Given the description of an element on the screen output the (x, y) to click on. 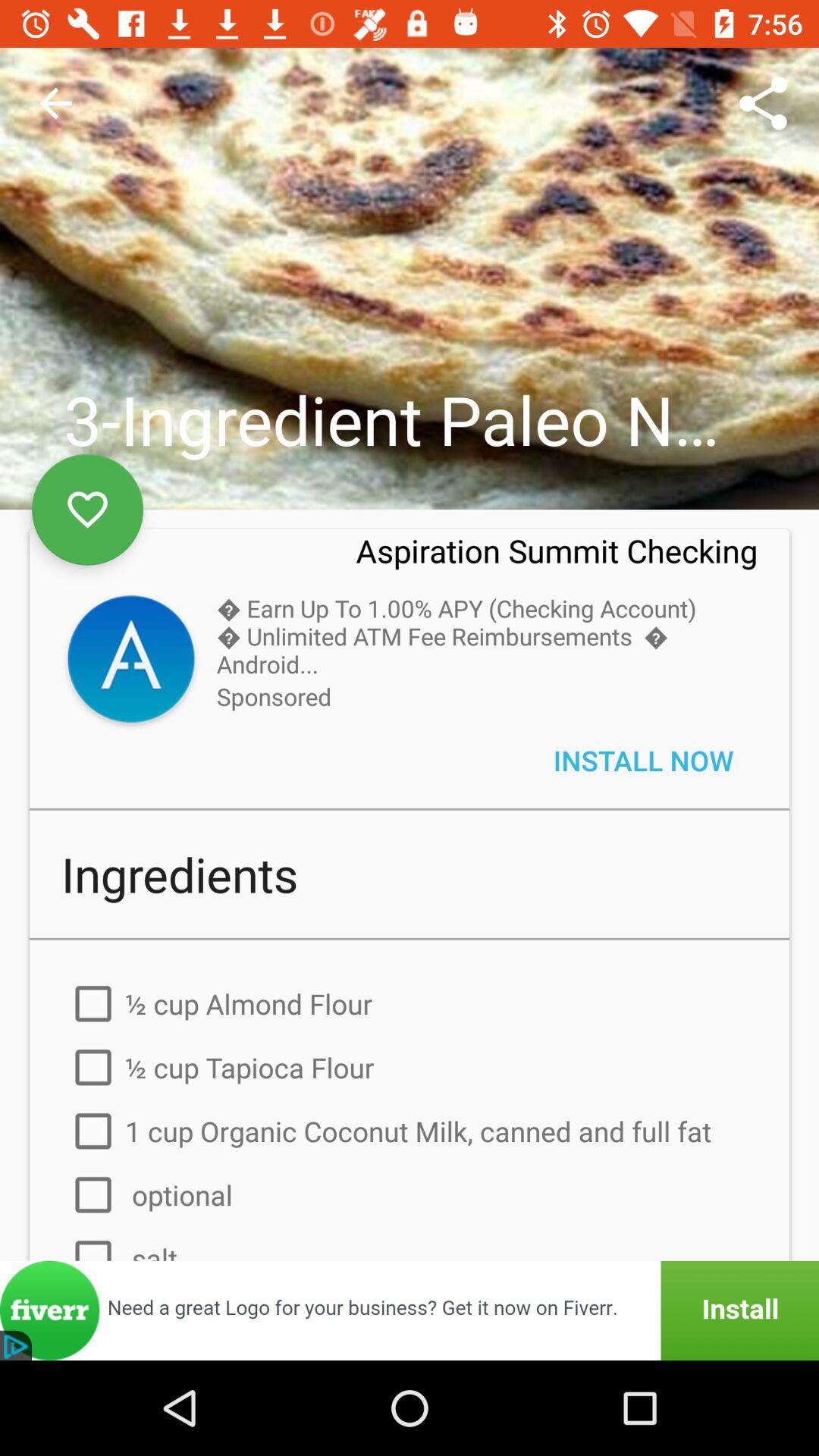
select the install box (409, 1310)
